Given the description of an element on the screen output the (x, y) to click on. 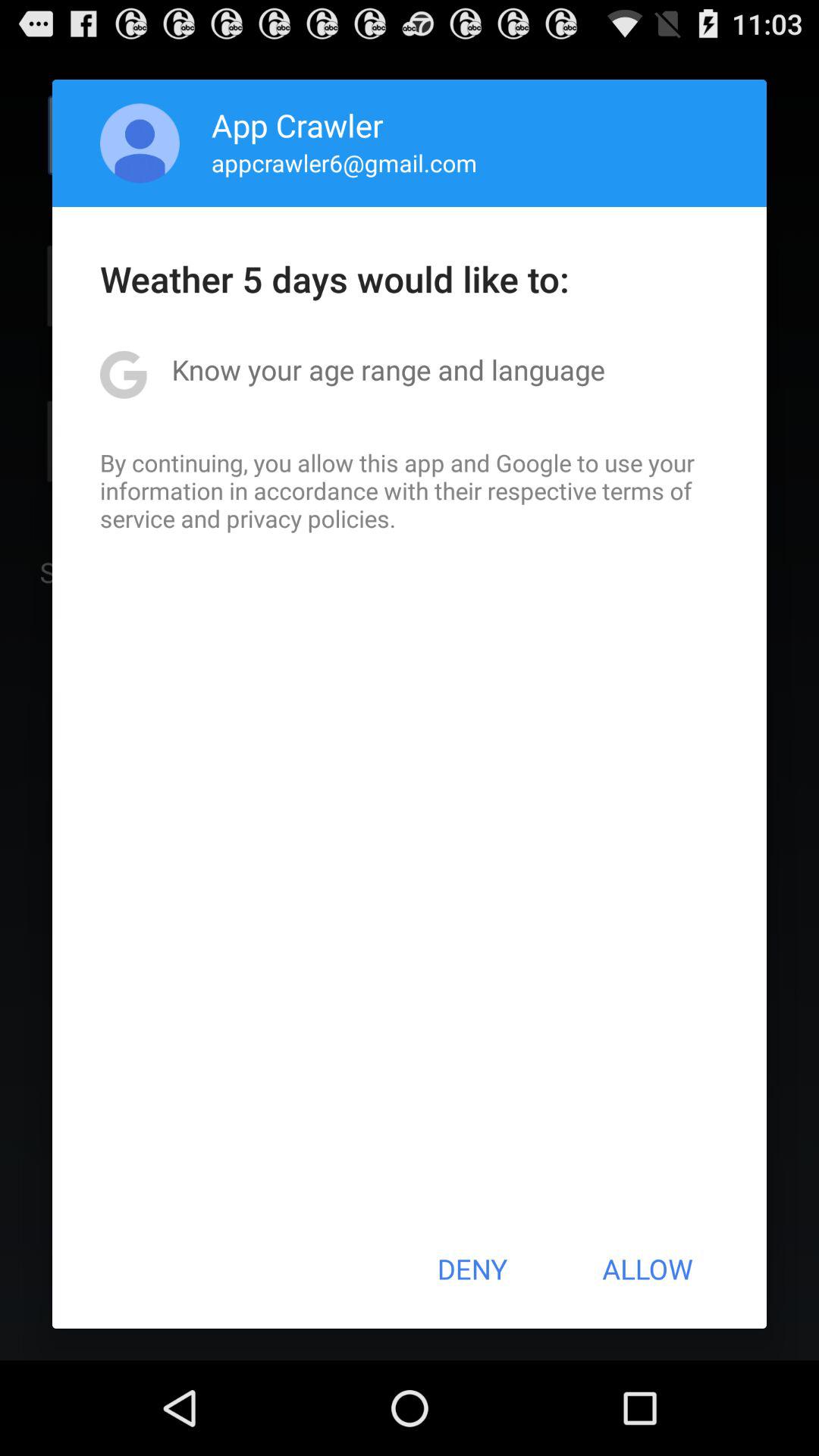
swipe to the appcrawler6@gmail.com icon (344, 162)
